Given the description of an element on the screen output the (x, y) to click on. 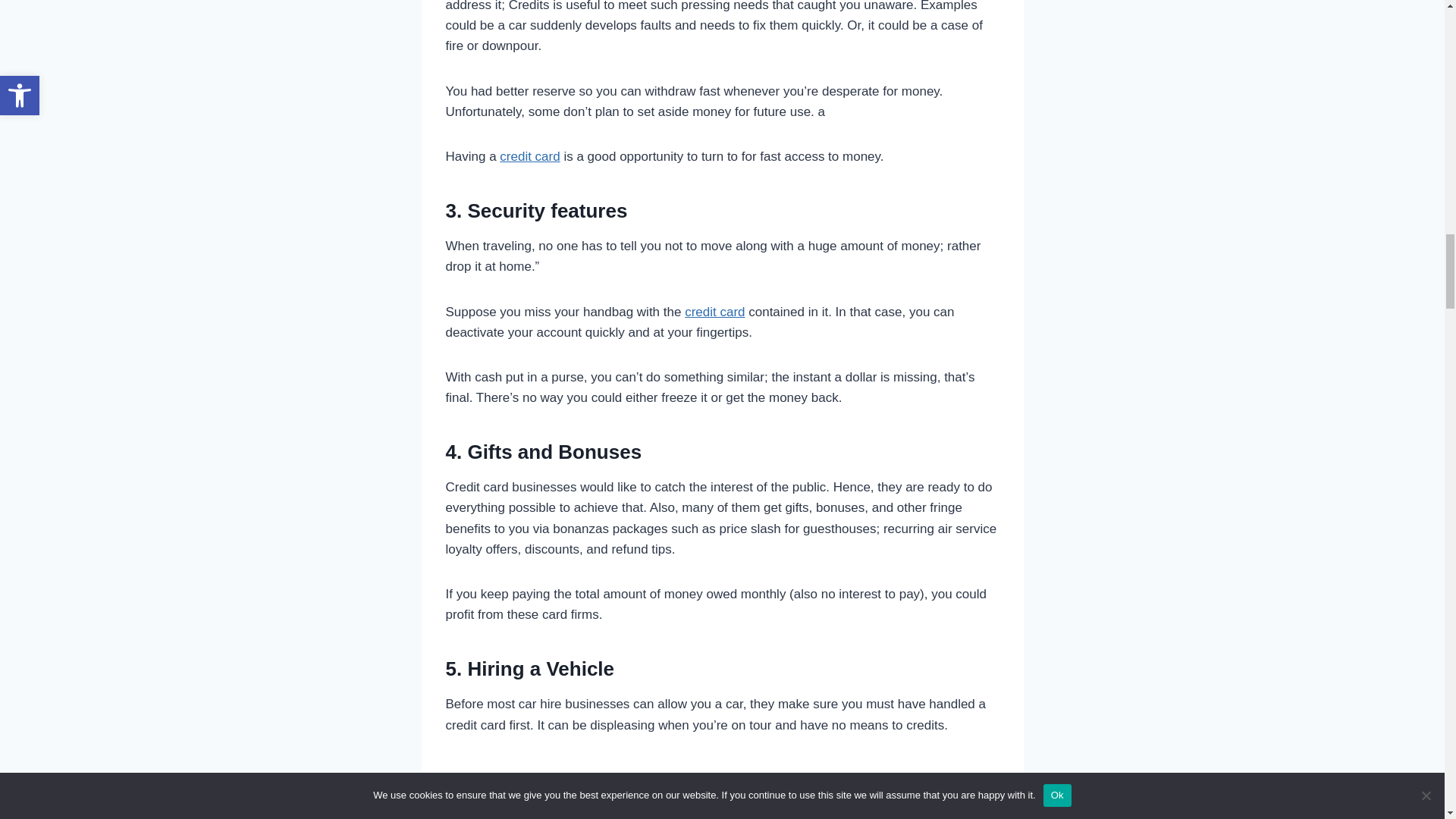
credit card (714, 311)
credit card (529, 156)
